Given the description of an element on the screen output the (x, y) to click on. 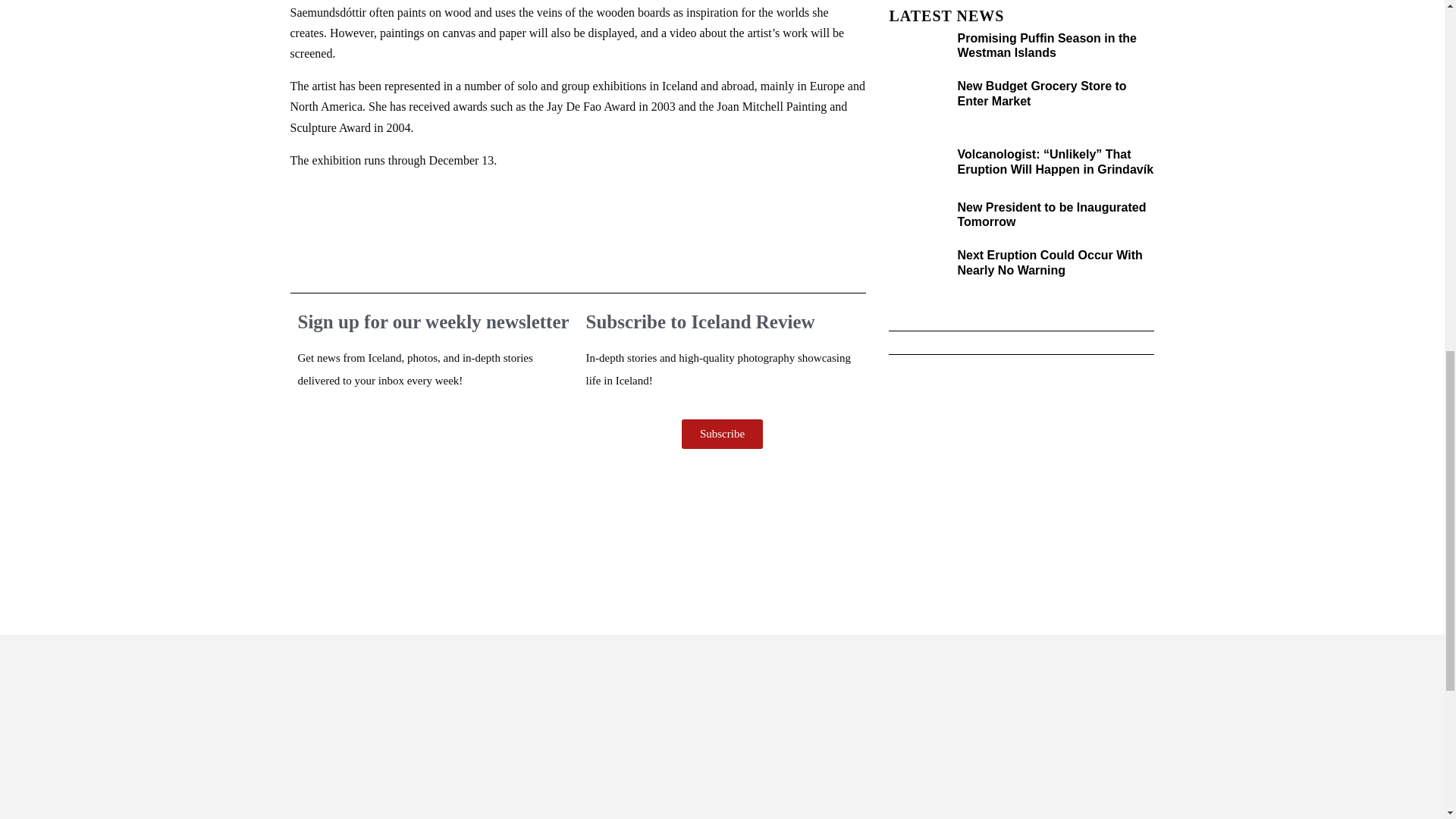
New Budget Grocery Store to Enter Market (1040, 93)
Next Eruption Could Occur With Nearly No Warning (1048, 262)
New President to be Inaugurated Tomorrow (1050, 214)
Promising Puffin Season in the Westman Islands (1045, 44)
